Given the description of an element on the screen output the (x, y) to click on. 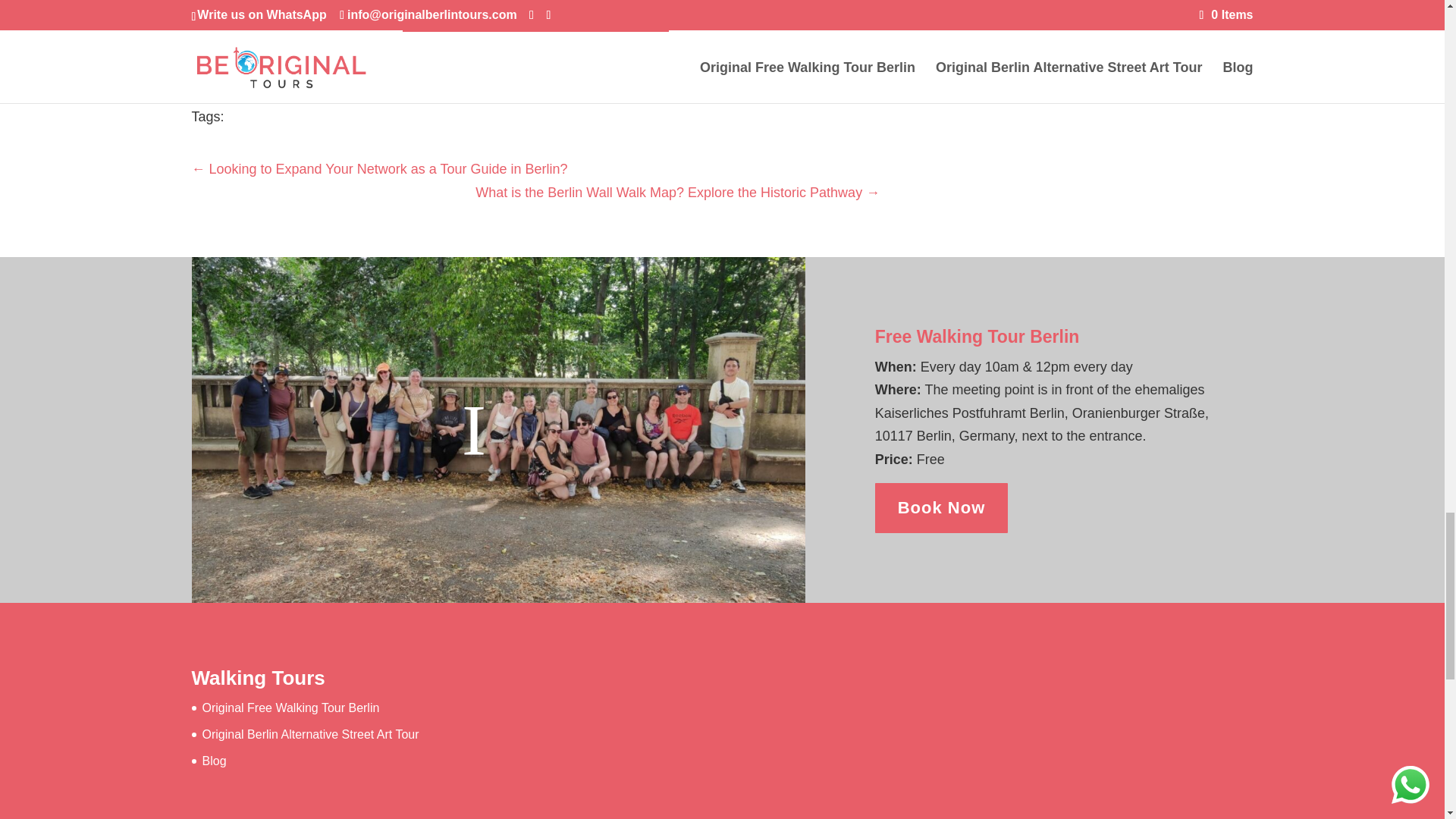
Blog (213, 760)
Original Free Walking Tour Berlin (290, 707)
Book Your Free Tour Now (535, 50)
Book Now (942, 508)
Original Berlin Alternative Street Art Tour (310, 734)
